Given the description of an element on the screen output the (x, y) to click on. 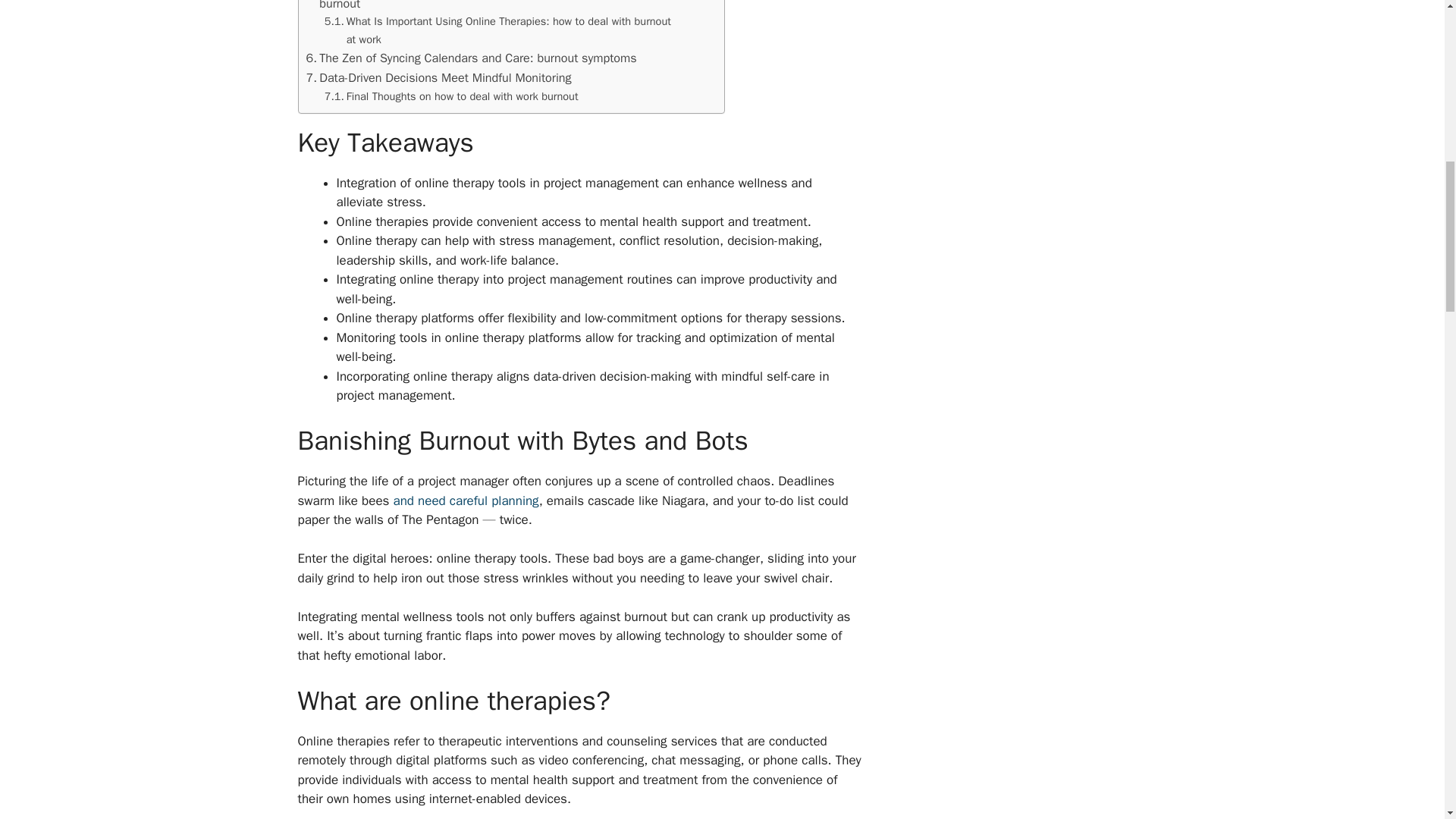
Final Thoughts on how to deal with work burnout (451, 96)
Data-Driven Decisions Meet Mindful Monitoring (438, 77)
The Zen of Syncing Calendars and Care: burnout symptoms (471, 57)
